Given the description of an element on the screen output the (x, y) to click on. 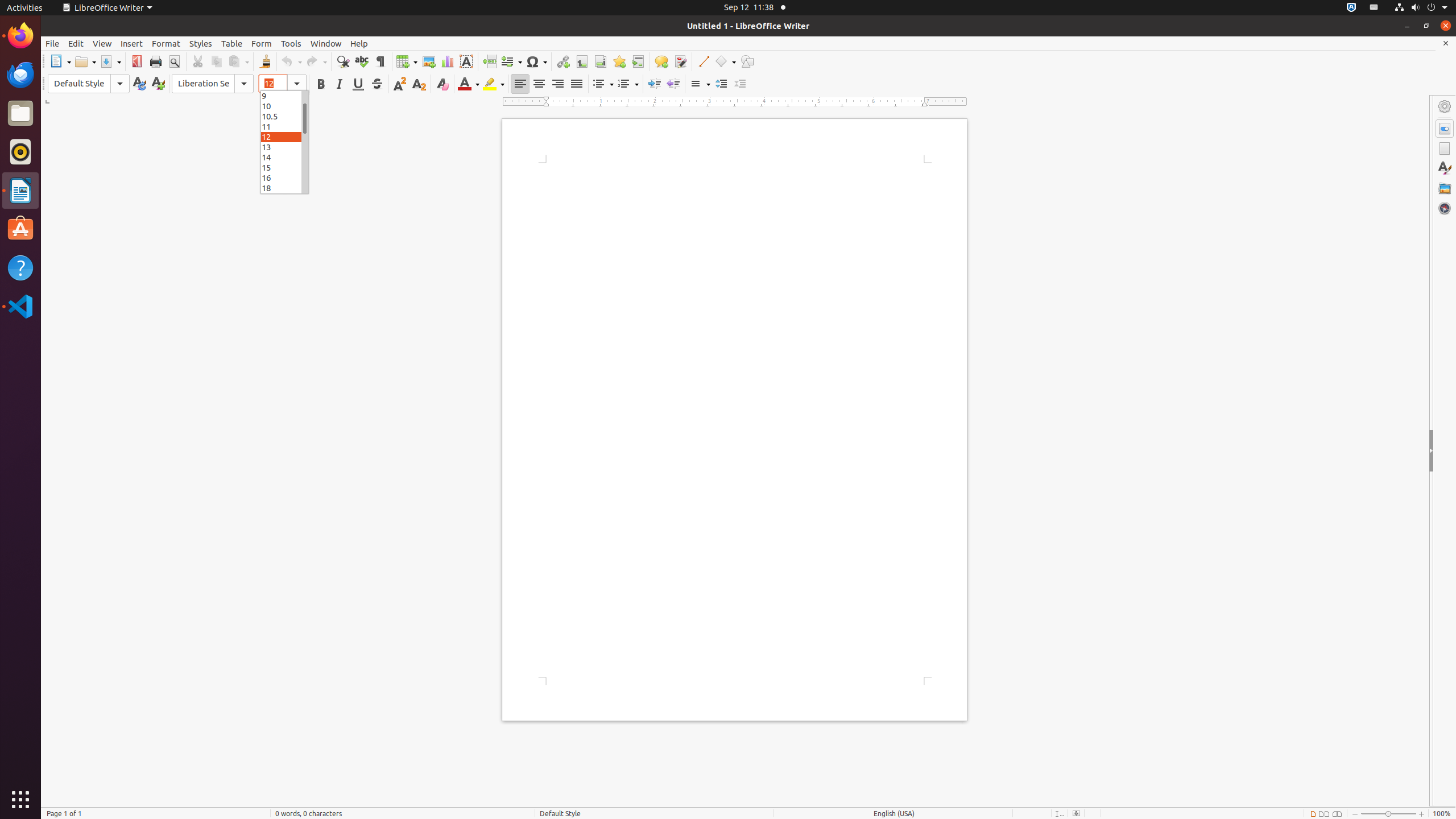
Superscript Element type: toggle-button (399, 83)
Symbol Element type: push-button (535, 61)
Print Element type: push-button (155, 61)
Cross-reference Element type: push-button (637, 61)
10 Element type: list-item (284, 105)
